Given the description of an element on the screen output the (x, y) to click on. 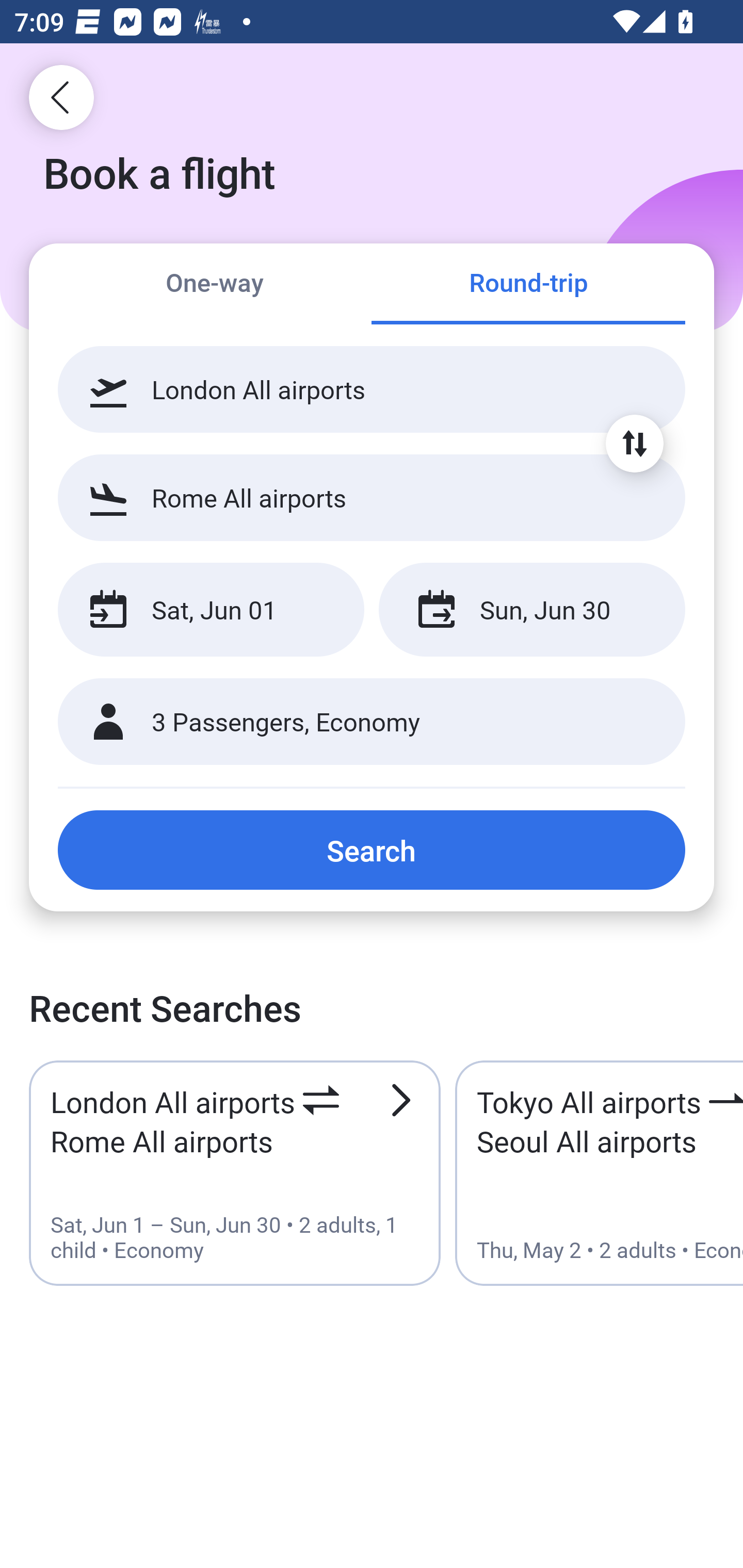
One-way (214, 284)
London All airports (371, 389)
Rome All airports (371, 497)
Sat, Jun 01 (210, 609)
Sun, Jun 30 (531, 609)
3 Passengers, Economy (371, 721)
Search (371, 849)
